Given the description of an element on the screen output the (x, y) to click on. 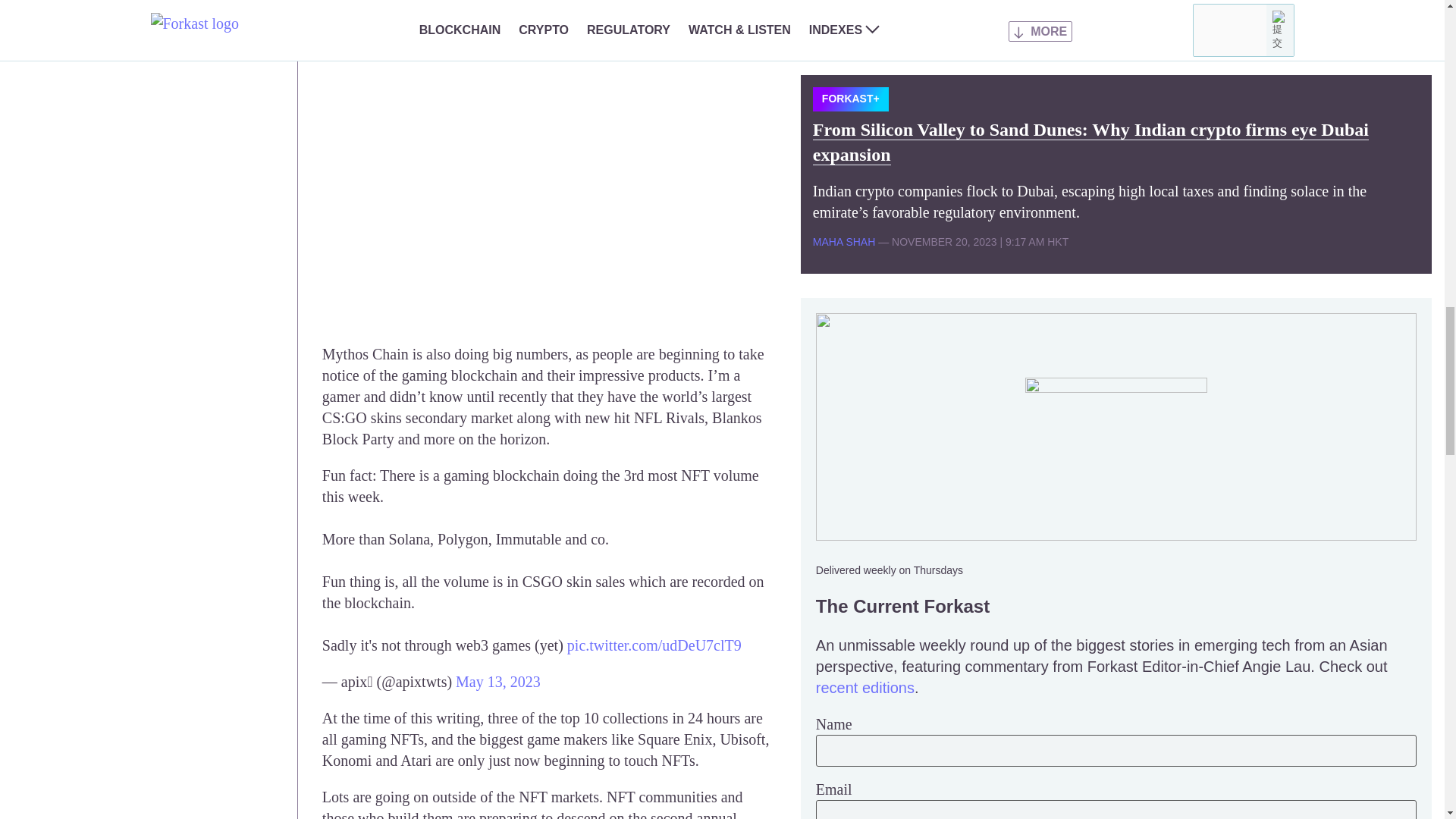
Posts by Maha Shah (843, 241)
